Given the description of an element on the screen output the (x, y) to click on. 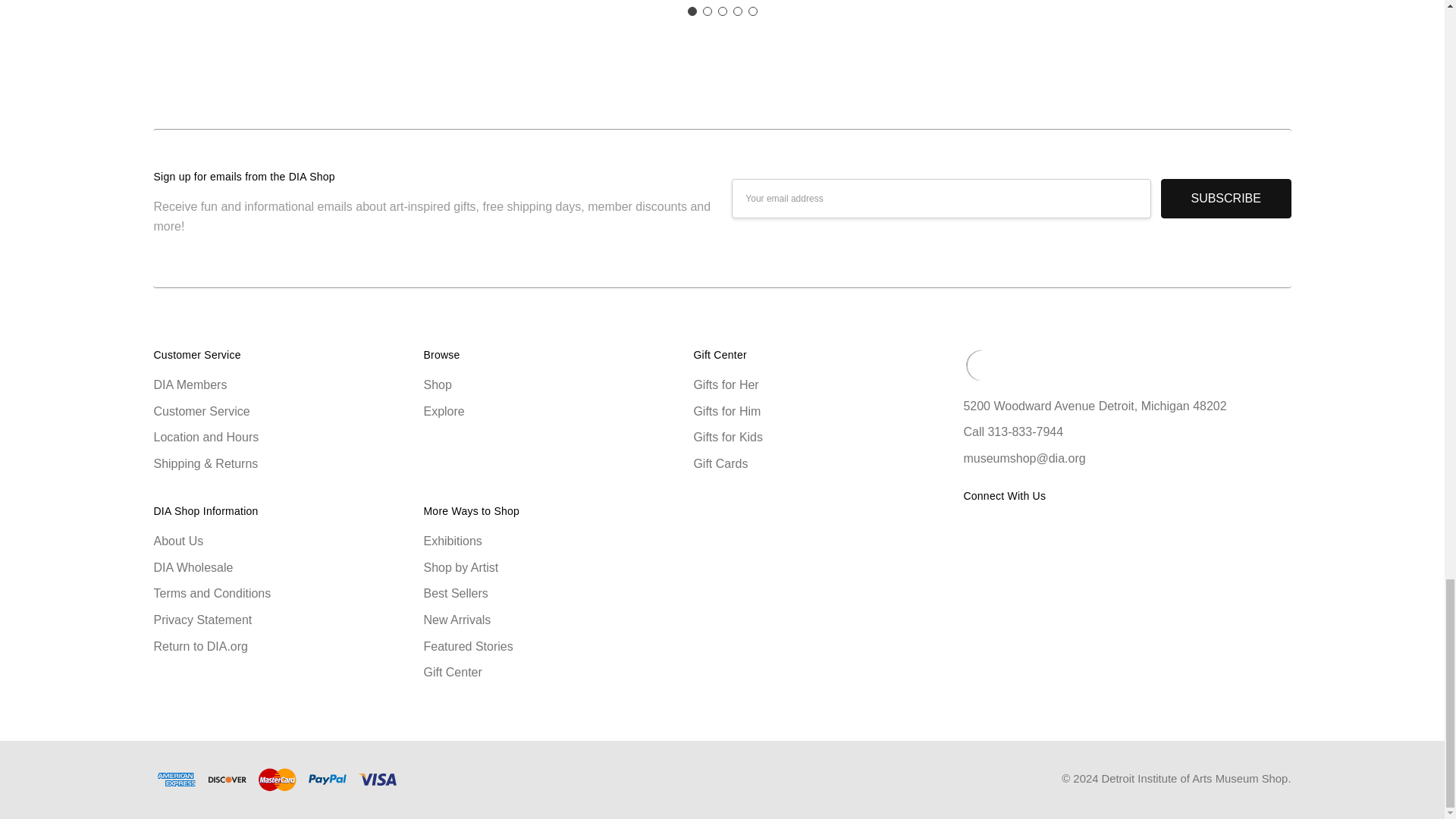
Detroit Institute of Arts Museum Shop (981, 365)
Subscribe (1225, 198)
